Given the description of an element on the screen output the (x, y) to click on. 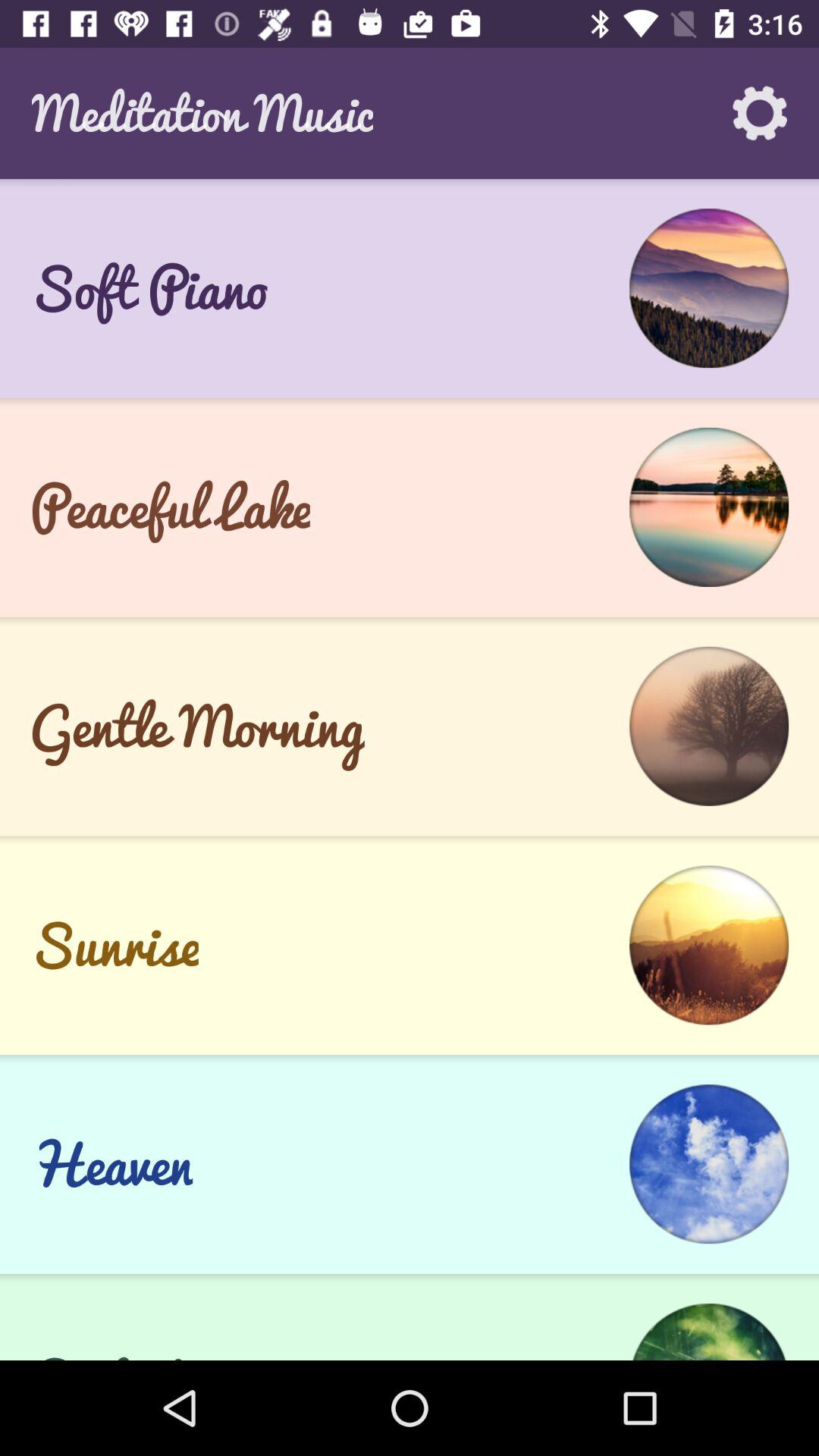
scroll until the perfect rain app (166, 1349)
